Given the description of an element on the screen output the (x, y) to click on. 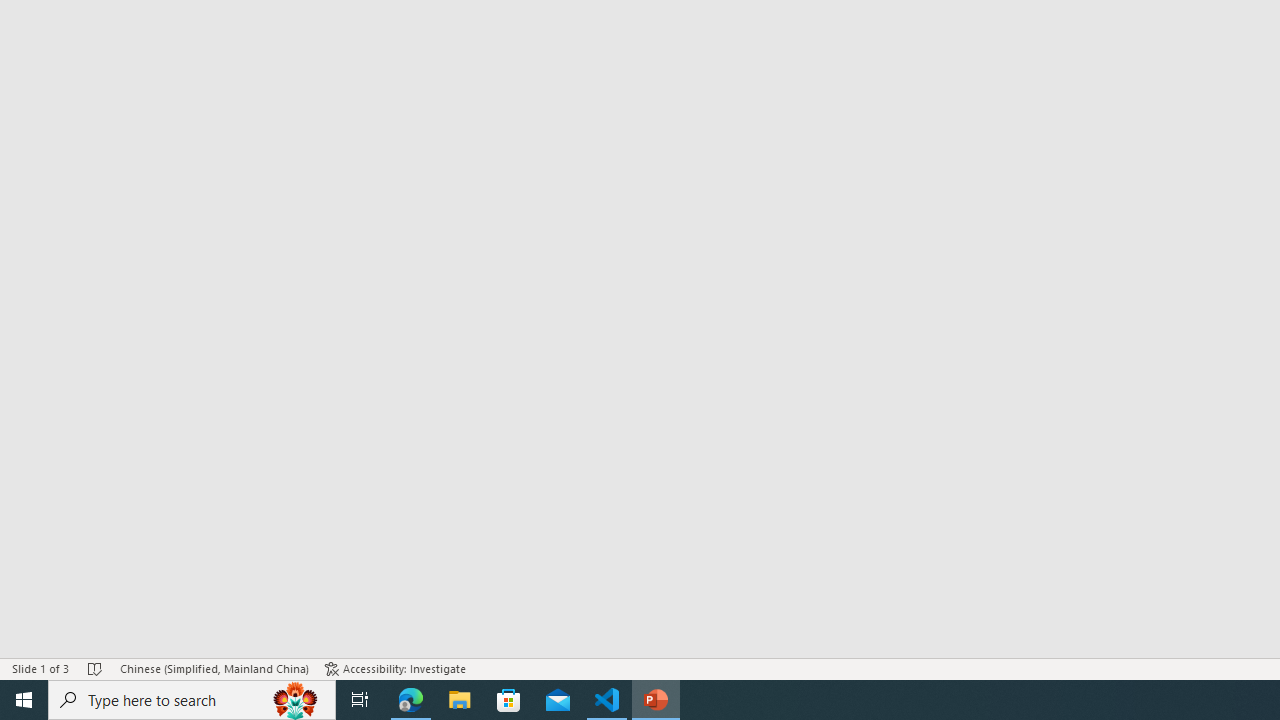
Accessibility Checker Accessibility: Investigate (395, 668)
Spell Check No Errors (95, 668)
